Given the description of an element on the screen output the (x, y) to click on. 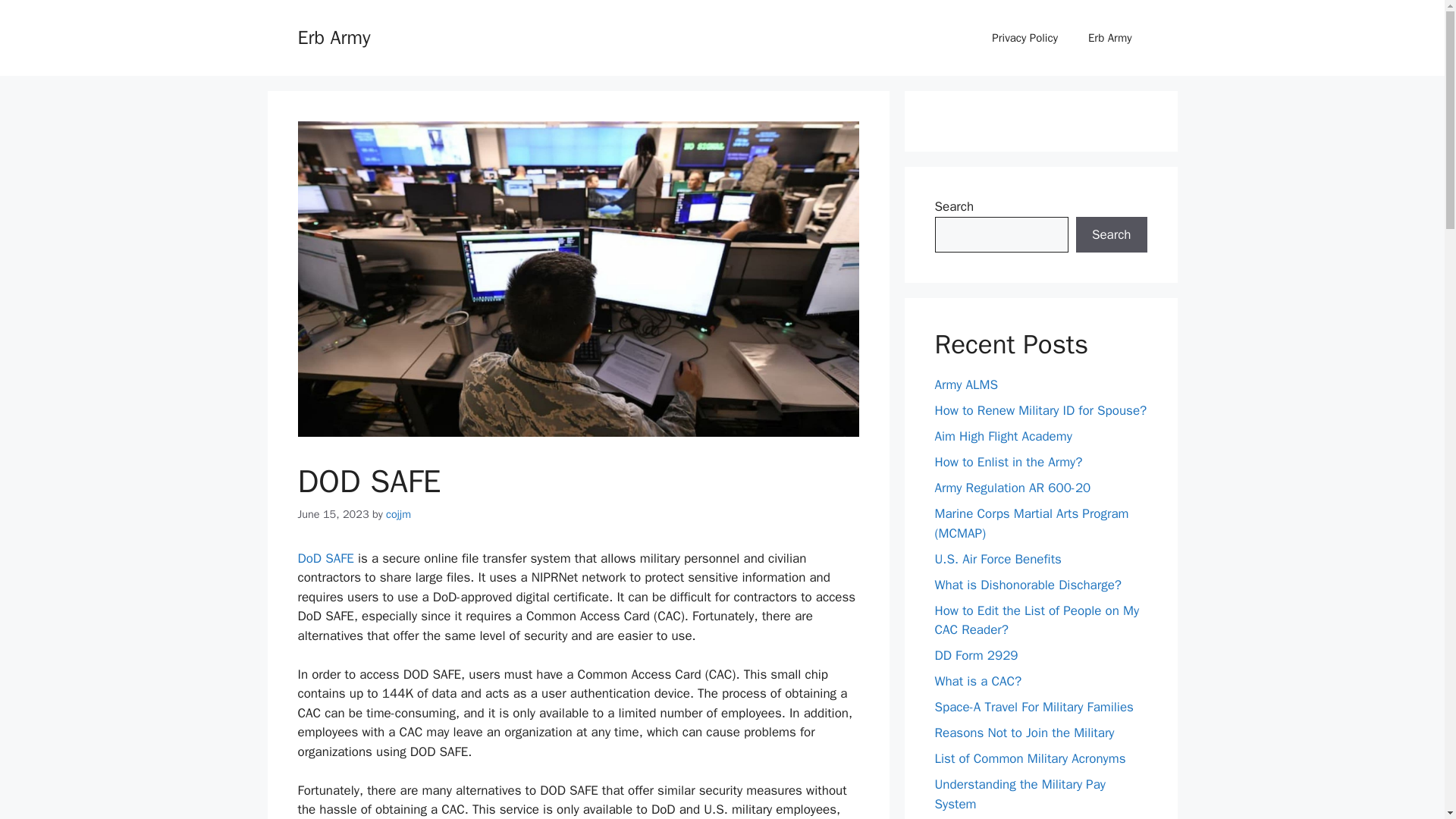
How to Enlist in the Army? (1007, 462)
How to Edit the List of People on My CAC Reader? (1036, 619)
Privacy Policy (1024, 37)
Aim High Flight Academy (1002, 436)
Erb Army (1110, 37)
Army Regulation AR 600-20 (1012, 487)
View all posts by cojjm (397, 513)
What is a CAC? (978, 681)
Army ALMS (965, 384)
Erb Army (333, 37)
